Given the description of an element on the screen output the (x, y) to click on. 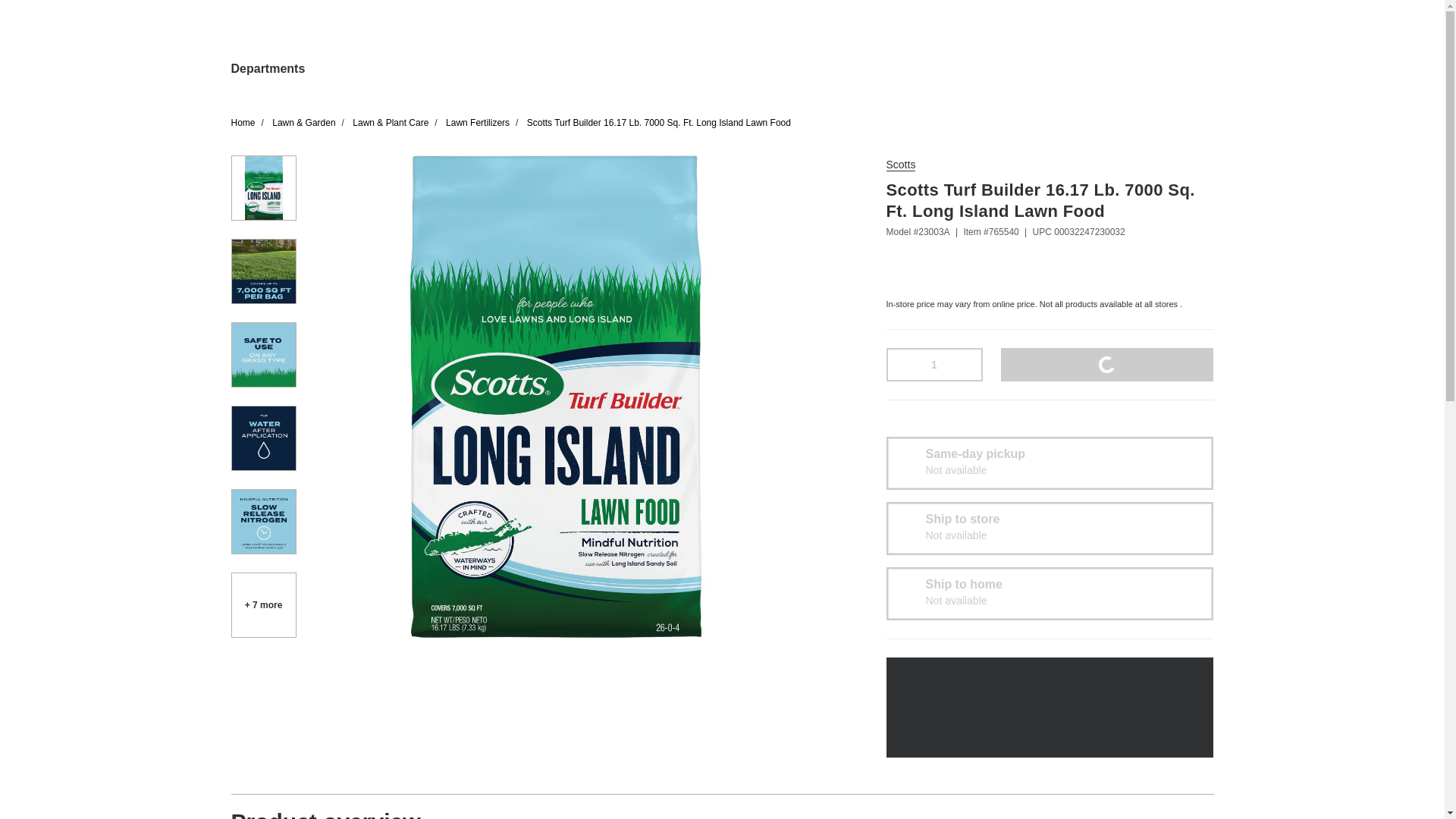
Lawn Fertilizers (477, 122)
Home (242, 122)
1 (933, 364)
Scotts (900, 164)
Departments (267, 69)
